Given the description of an element on the screen output the (x, y) to click on. 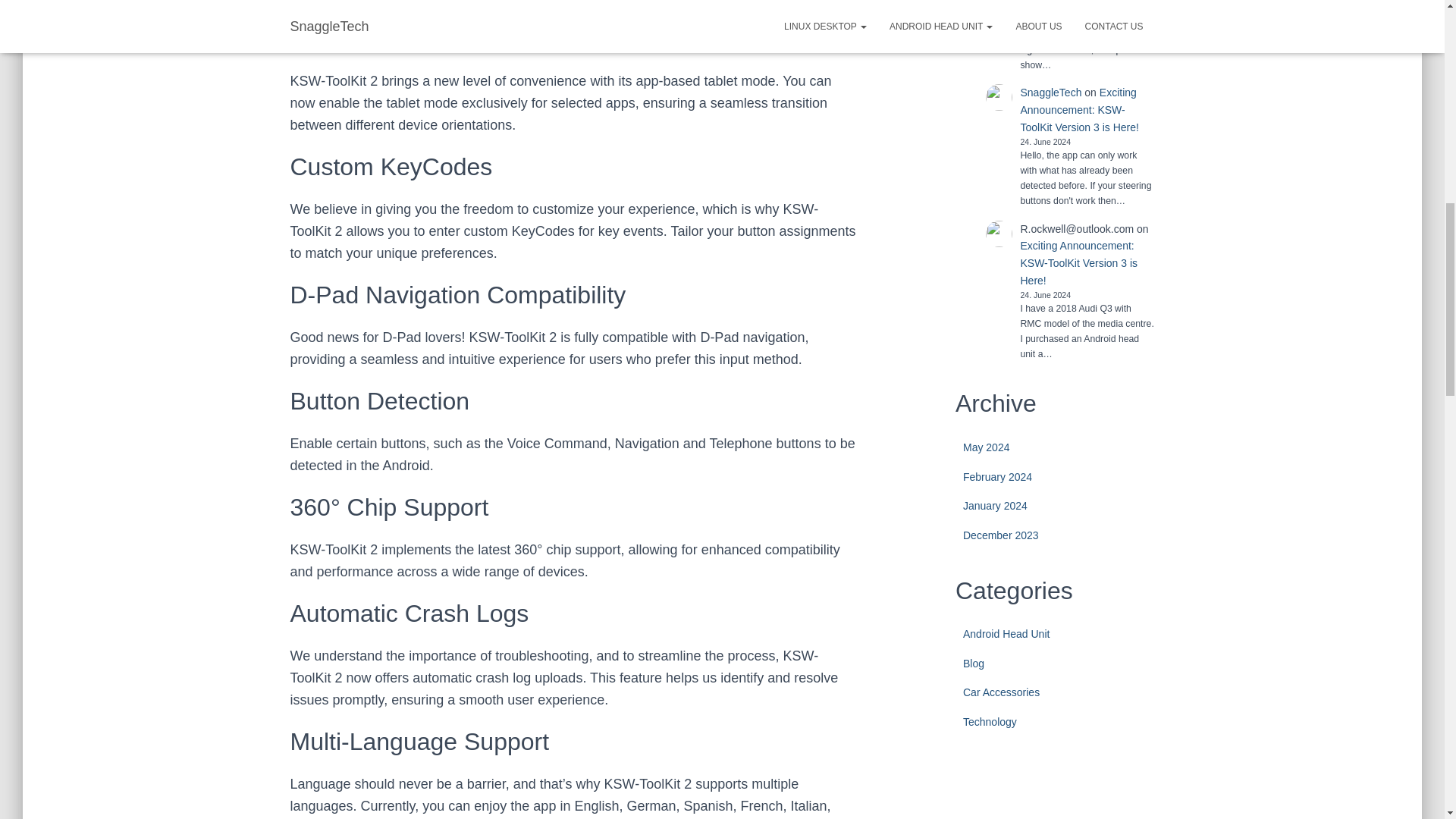
Car Accessories (1000, 692)
Technology (989, 721)
January 2024 (994, 505)
Android Head Unit (1005, 633)
Blog (973, 663)
February 2024 (997, 476)
May 2024 (985, 447)
December 2023 (1000, 535)
Exciting Announcement: KSW-ToolKit Version 3 is Here! (1078, 262)
SnaggleTech (1050, 92)
Exciting Announcement: KSW-ToolKit Version 3 is Here! (1079, 109)
